Given the description of an element on the screen output the (x, y) to click on. 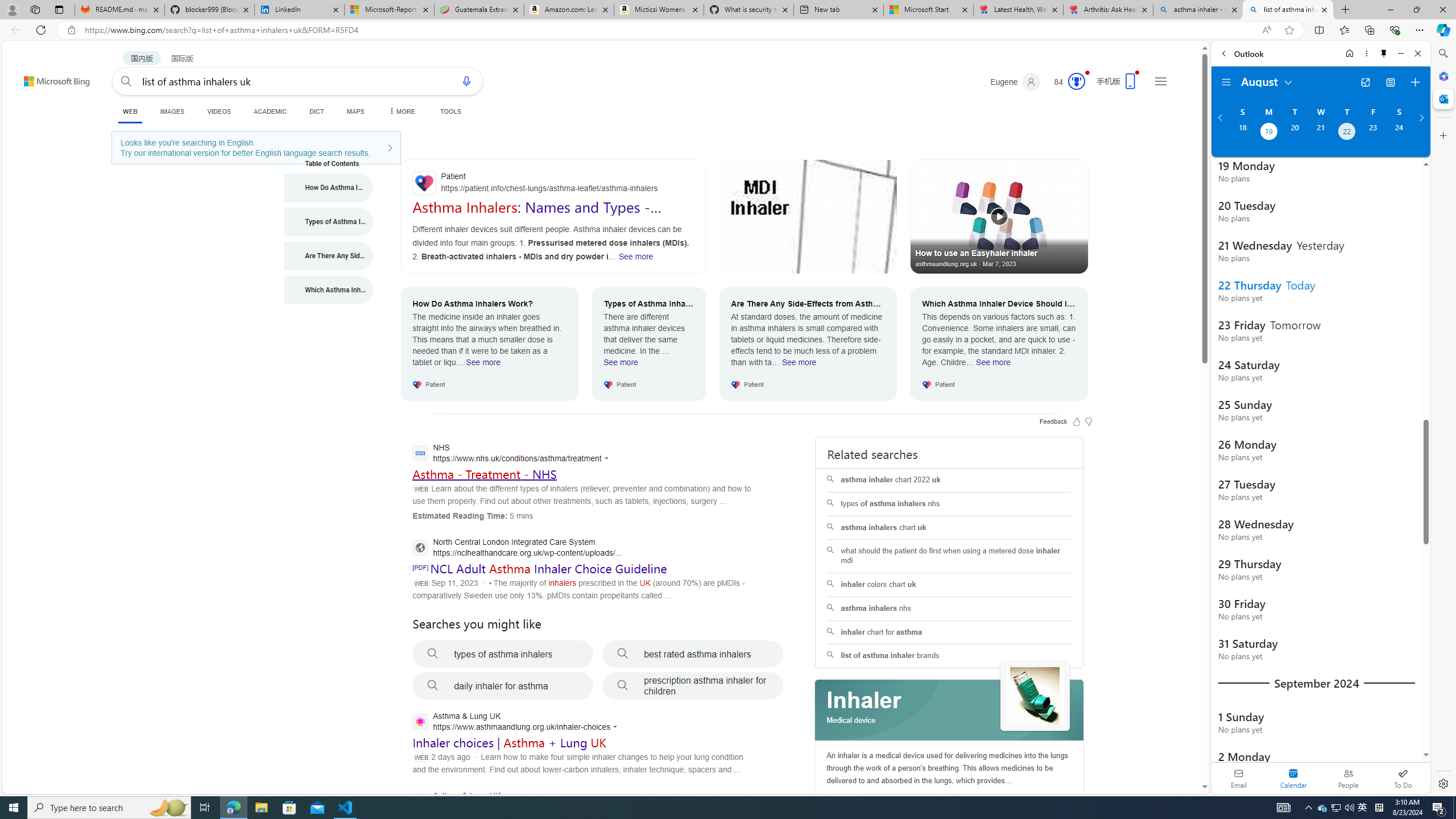
types of asthma inhalers (503, 653)
Actions for this site (617, 726)
Sunday, August 18, 2024.  (1242, 132)
AutomationID: rh_meter (1076, 80)
Monday, August 19, 2024. Date selected.  (1268, 132)
MAPS (355, 111)
DICT (316, 111)
Asthma & Lung UK (513, 802)
